Given the description of an element on the screen output the (x, y) to click on. 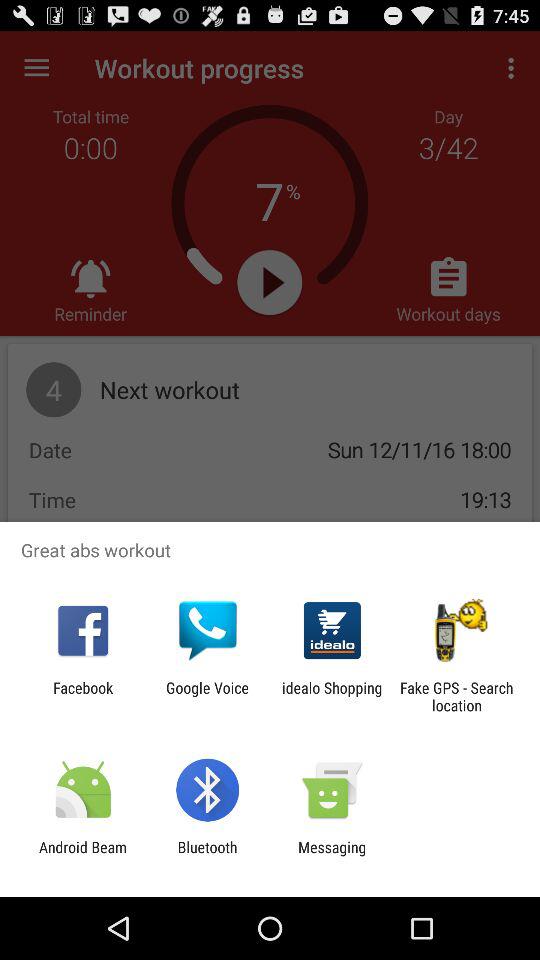
click app next to the idealo shopping item (456, 696)
